Given the description of an element on the screen output the (x, y) to click on. 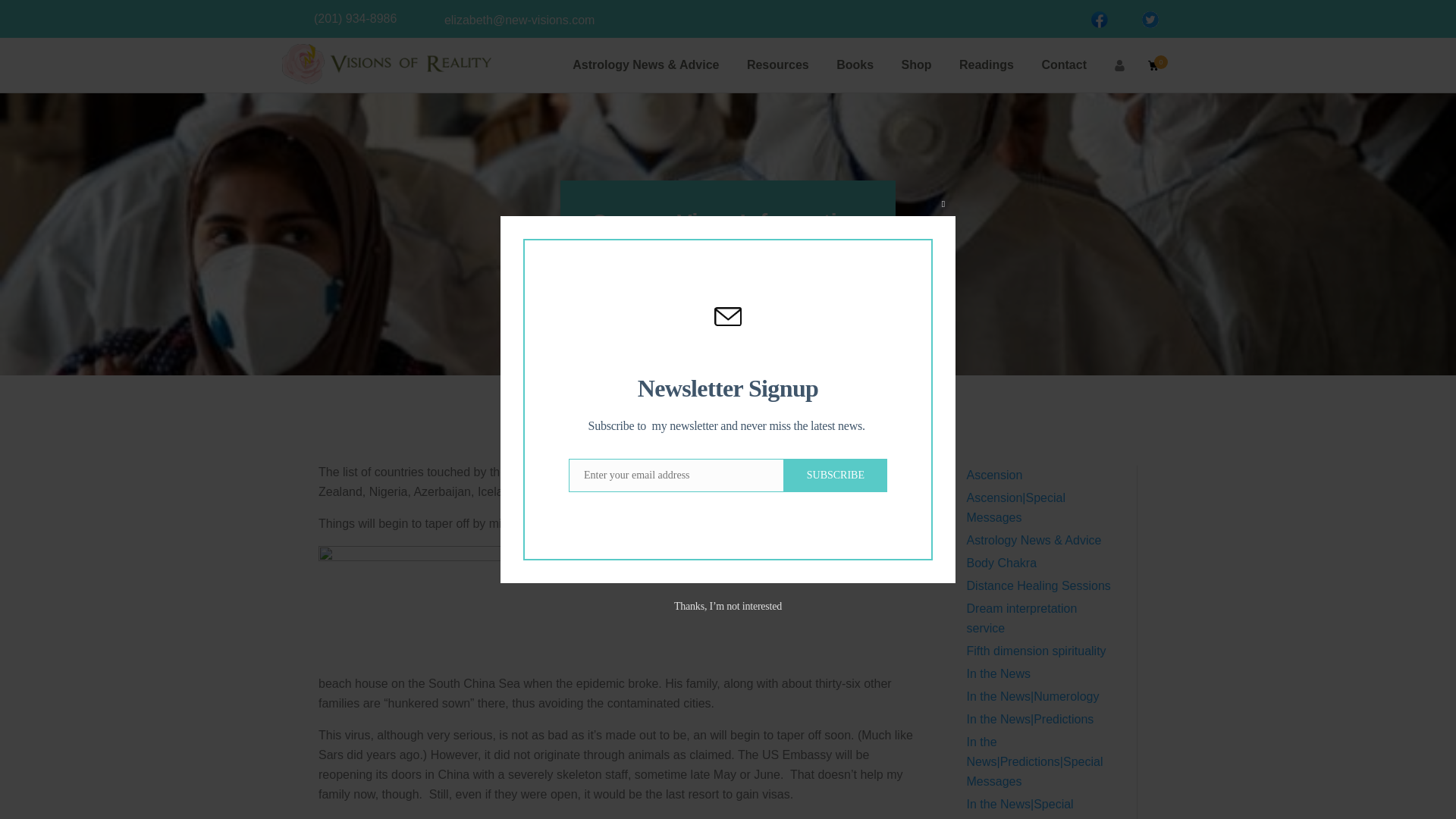
Body Chakra (1001, 566)
Dream interpretation service (1021, 621)
Distance Healing Sessions (1038, 589)
Readings (986, 64)
In the News (998, 677)
In the News (769, 254)
Resources (777, 64)
Fifth dimension spirituality (1036, 654)
Ascension (994, 478)
